Given the description of an element on the screen output the (x, y) to click on. 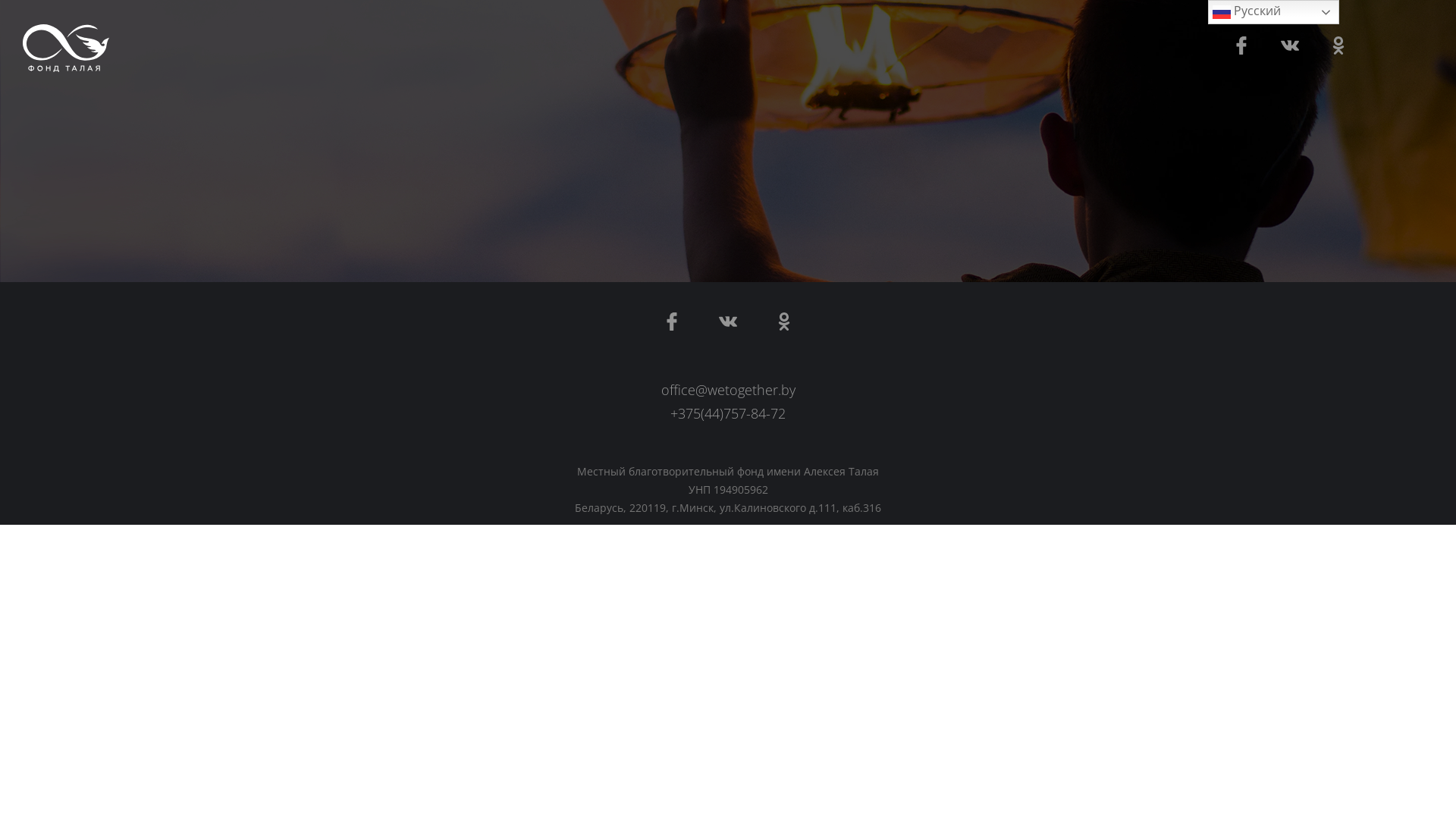
office@wetogether.by Element type: text (728, 389)
+375(44)757-84-72 Element type: text (727, 413)
